Given the description of an element on the screen output the (x, y) to click on. 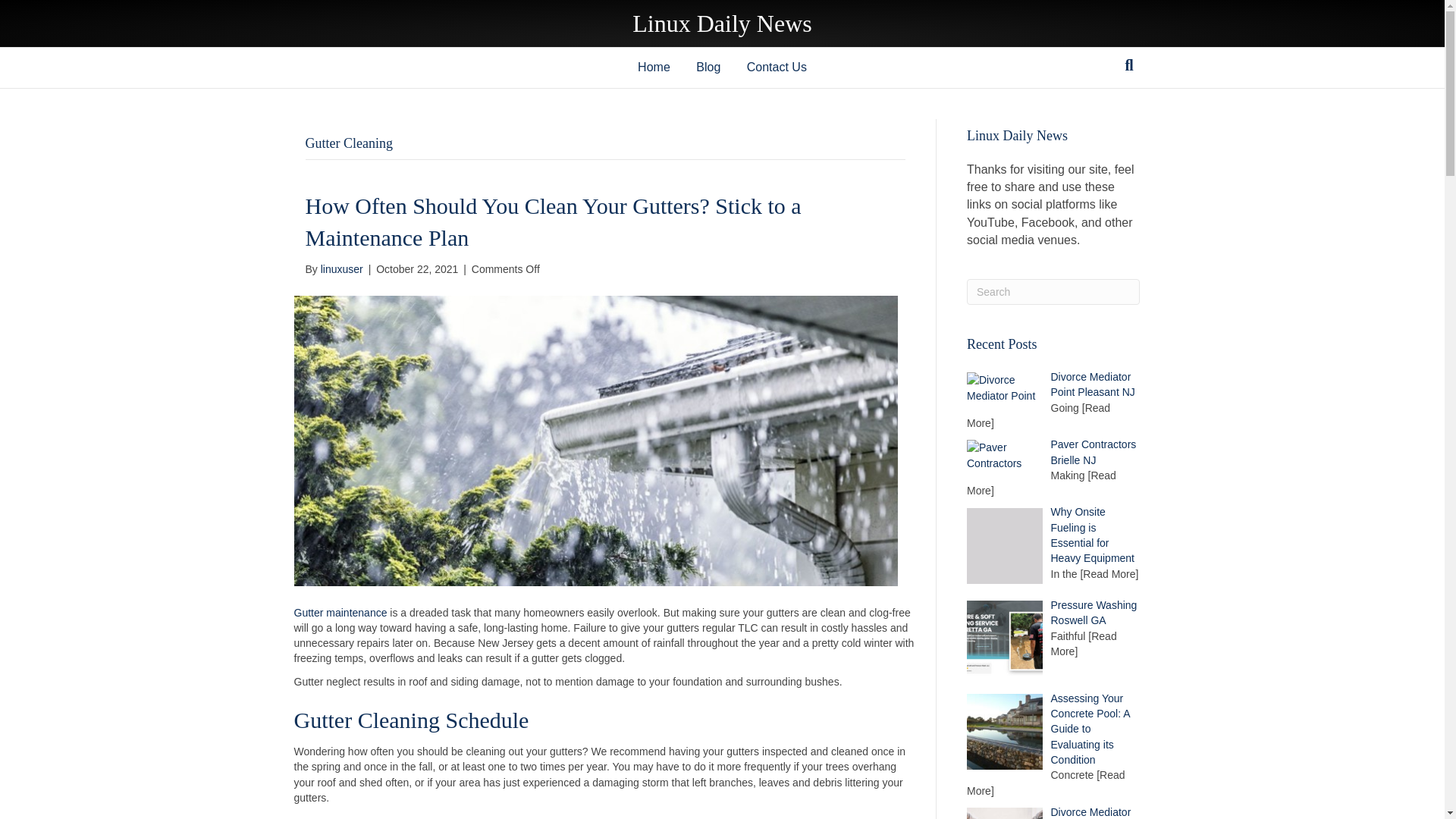
Type and press Enter to search. (1053, 291)
Pressure Washing Roswell GA (1094, 612)
linuxuser (341, 268)
Blog (708, 66)
Why Onsite Fueling is Essential for Heavy Equipment (1093, 535)
Home (653, 66)
Contact Us (776, 66)
Linux Daily News (721, 22)
